Given the description of an element on the screen output the (x, y) to click on. 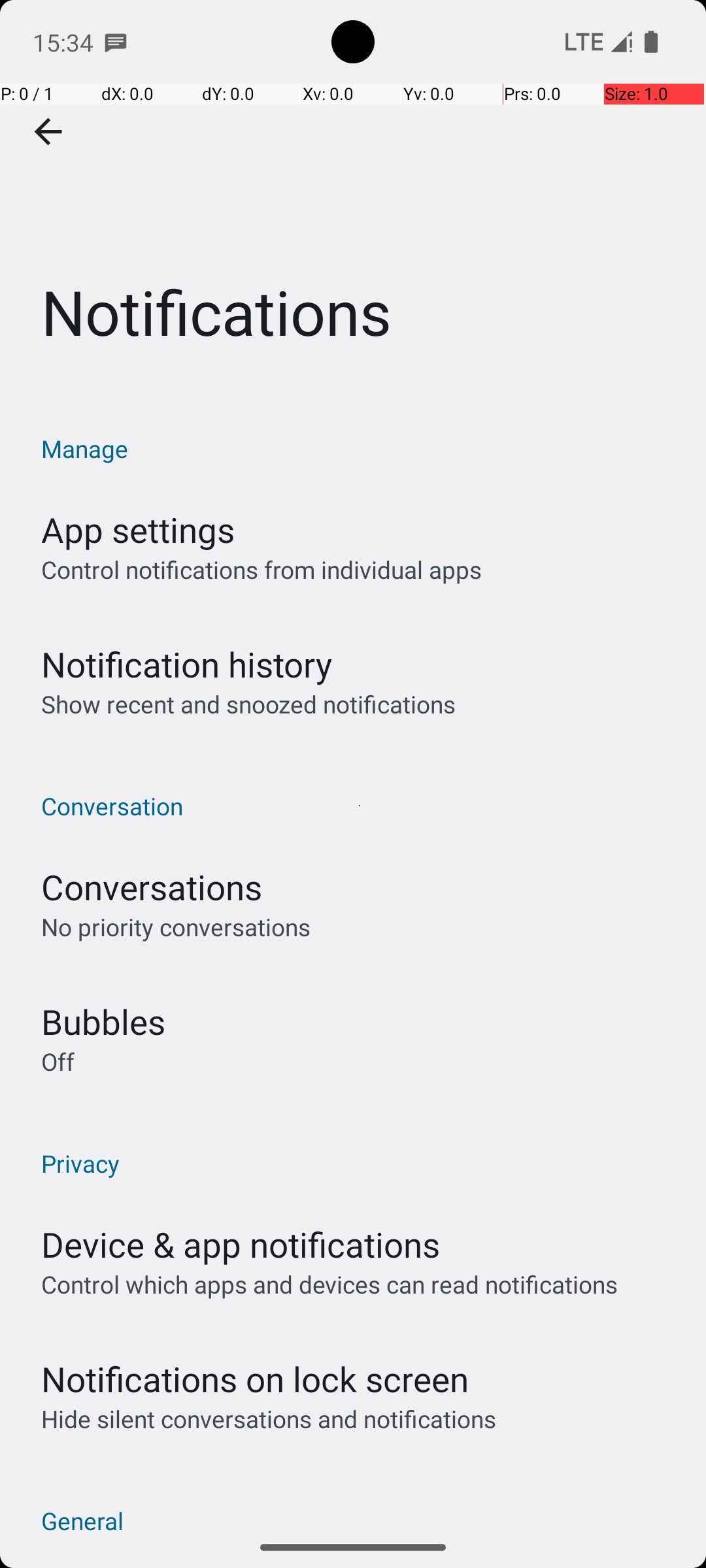
Manage Element type: android.widget.TextView (359, 448)
App settings Element type: android.widget.TextView (137, 529)
Control notifications from individual apps Element type: android.widget.TextView (261, 569)
Notification history Element type: android.widget.TextView (186, 663)
Show recent and snoozed notifications Element type: android.widget.TextView (248, 703)
Conversation Element type: android.widget.TextView (359, 805)
Conversations Element type: android.widget.TextView (151, 886)
No priority conversations Element type: android.widget.TextView (175, 926)
Bubbles Element type: android.widget.TextView (103, 1021)
Privacy Element type: android.widget.TextView (359, 1162)
Device & app notifications Element type: android.widget.TextView (240, 1244)
Control which apps and devices can read notifications Element type: android.widget.TextView (329, 1283)
Notifications on lock screen Element type: android.widget.TextView (254, 1378)
Hide silent conversations and notifications Element type: android.widget.TextView (268, 1418)
SMS Messenger notification: Theodore Chen Element type: android.widget.ImageView (115, 41)
